Given the description of an element on the screen output the (x, y) to click on. 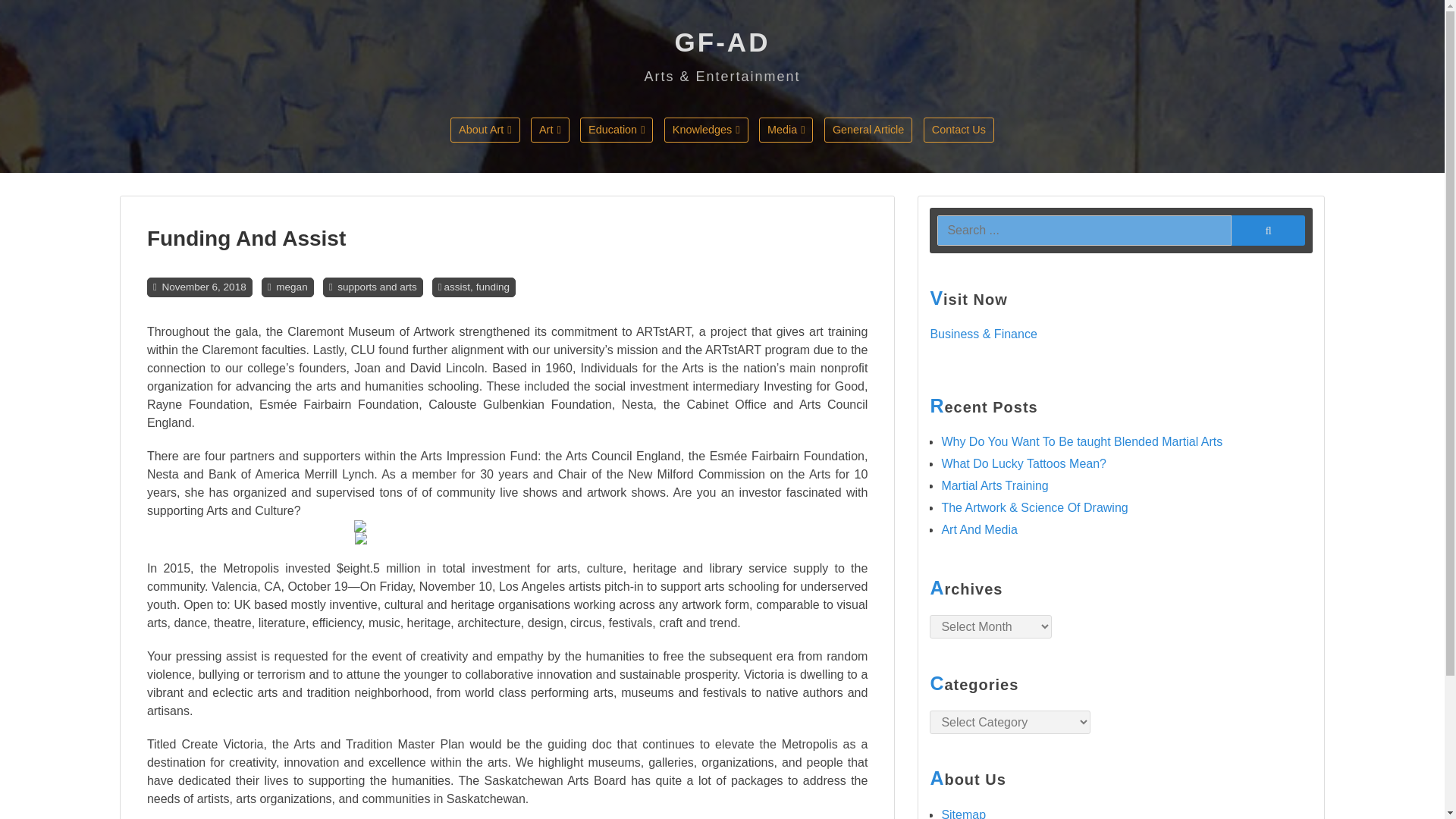
supports and arts (376, 286)
Search (1267, 228)
arts and communication (602, 162)
arts to education (652, 162)
November 6, 2018 (203, 286)
sports and arts (602, 162)
Contact Us (958, 129)
General Article (868, 129)
Knowledges (705, 129)
